Given the description of an element on the screen output the (x, y) to click on. 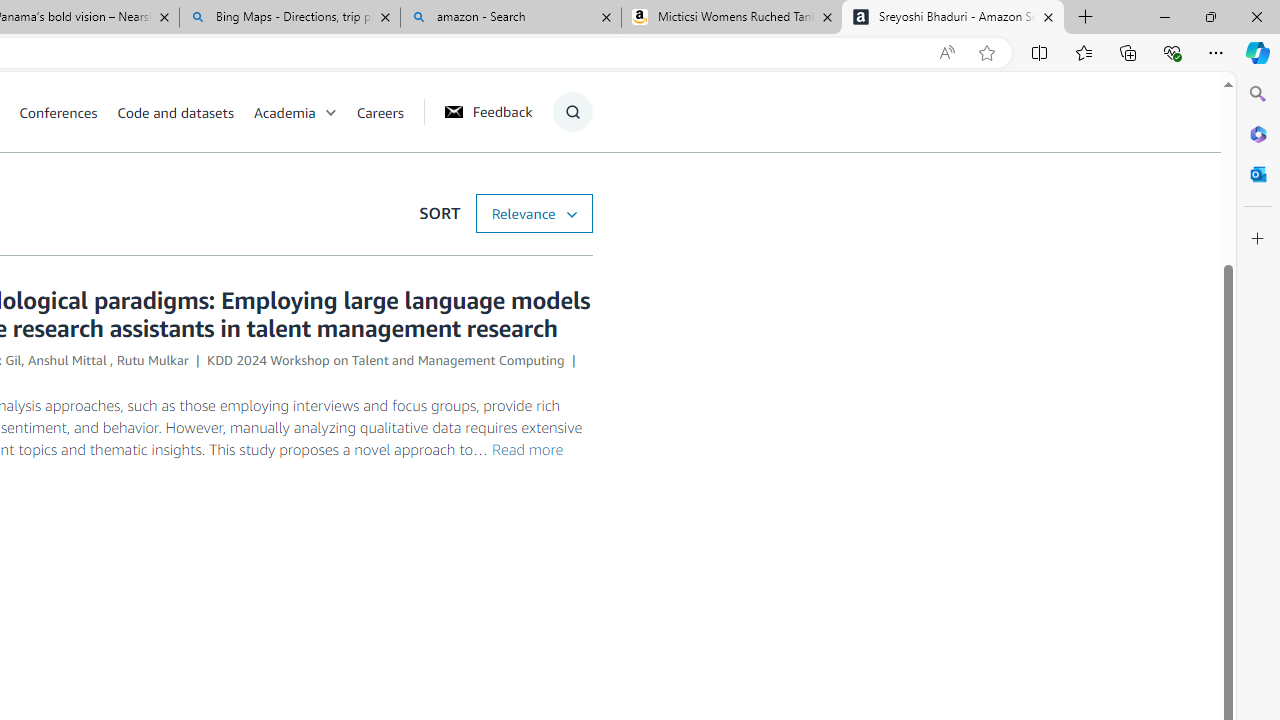
Class: chevron (330, 116)
Read more (527, 449)
Show Search Form (571, 111)
Sreyoshi Bhaduri - Amazon Science (953, 17)
Academia (284, 111)
Careers (389, 111)
Careers (379, 111)
Rutu Mulkar (152, 360)
